Given the description of an element on the screen output the (x, y) to click on. 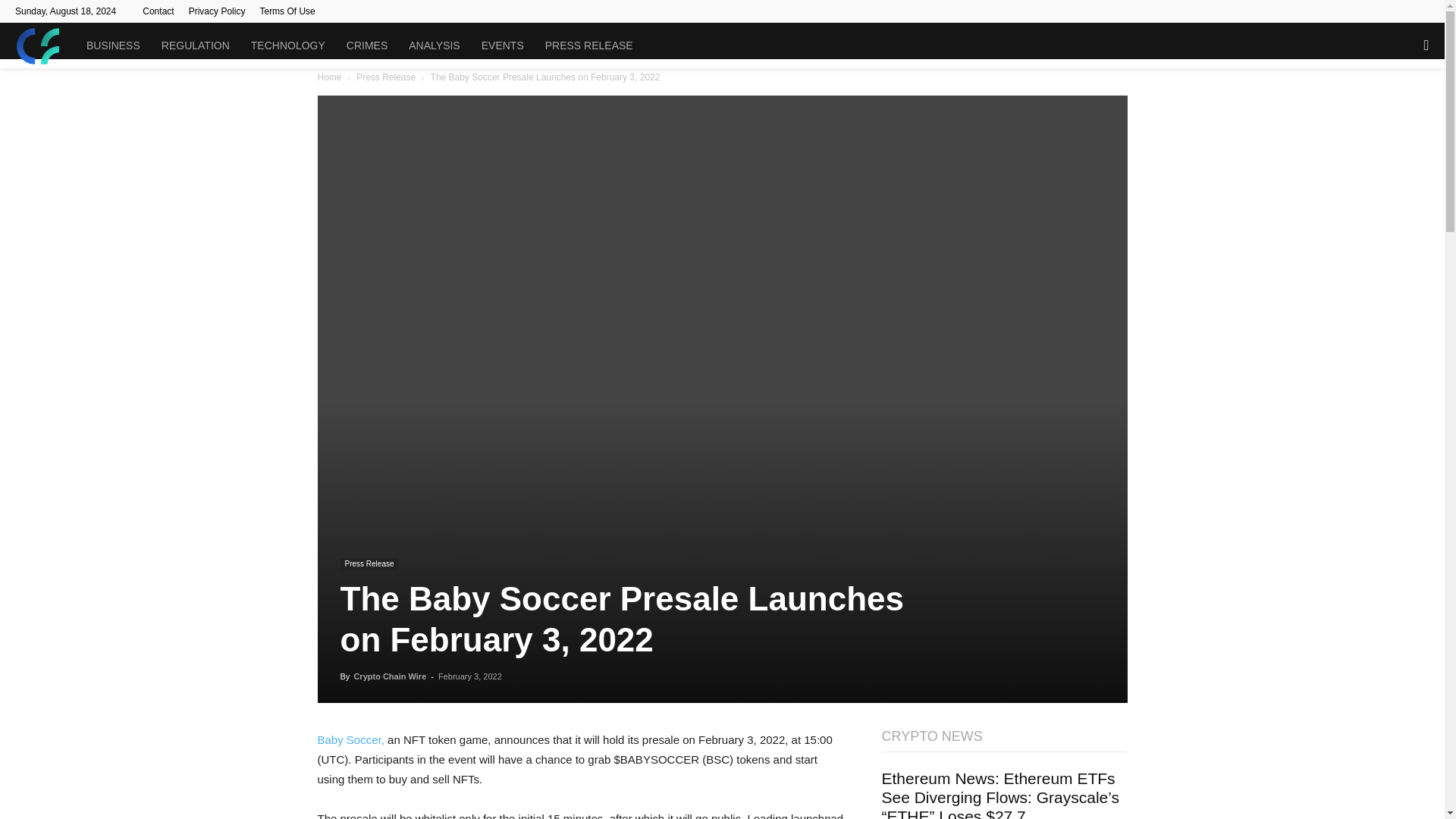
Contact (157, 10)
Search (1395, 110)
Privacy Policy (217, 10)
Press Release (385, 77)
View all posts in Press Release (385, 77)
Crypto Chain Wire (389, 675)
CRIMES (366, 44)
ANALYSIS (433, 44)
EVENTS (502, 44)
PRESS RELEASE (588, 44)
